Given the description of an element on the screen output the (x, y) to click on. 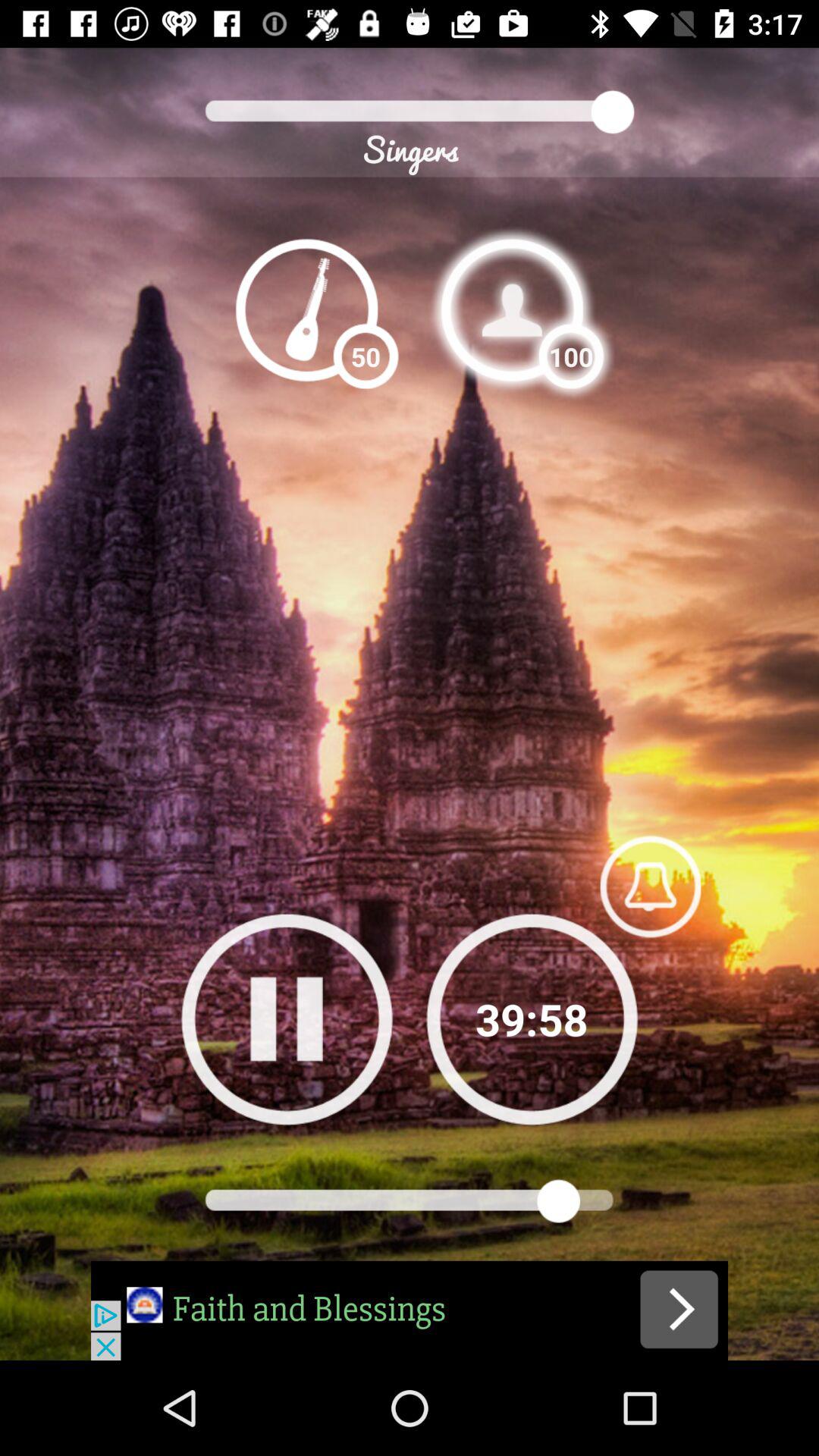
profile (511, 309)
